Given the description of an element on the screen output the (x, y) to click on. 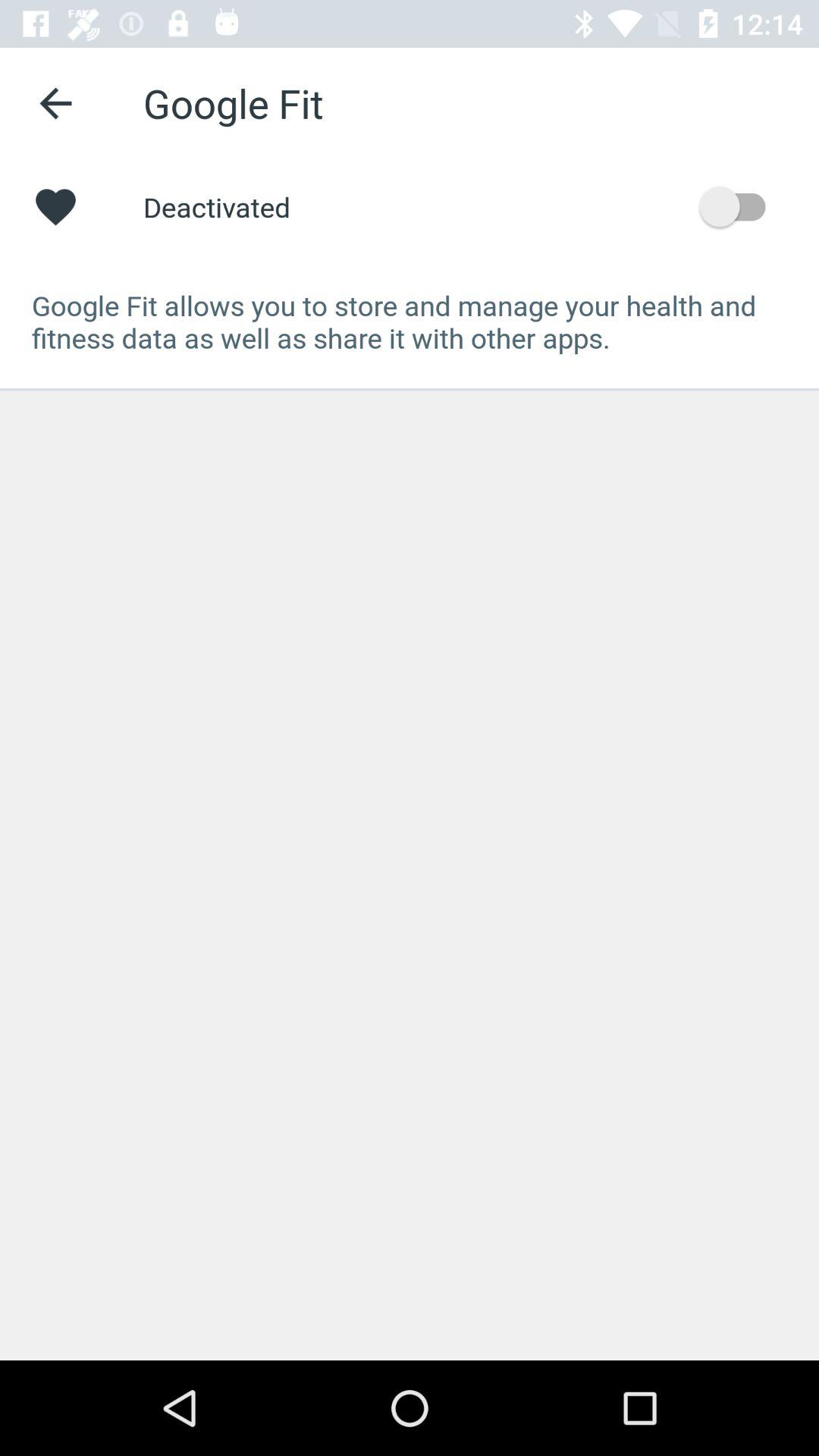
turn on the icon next to google fit (55, 103)
